Given the description of an element on the screen output the (x, y) to click on. 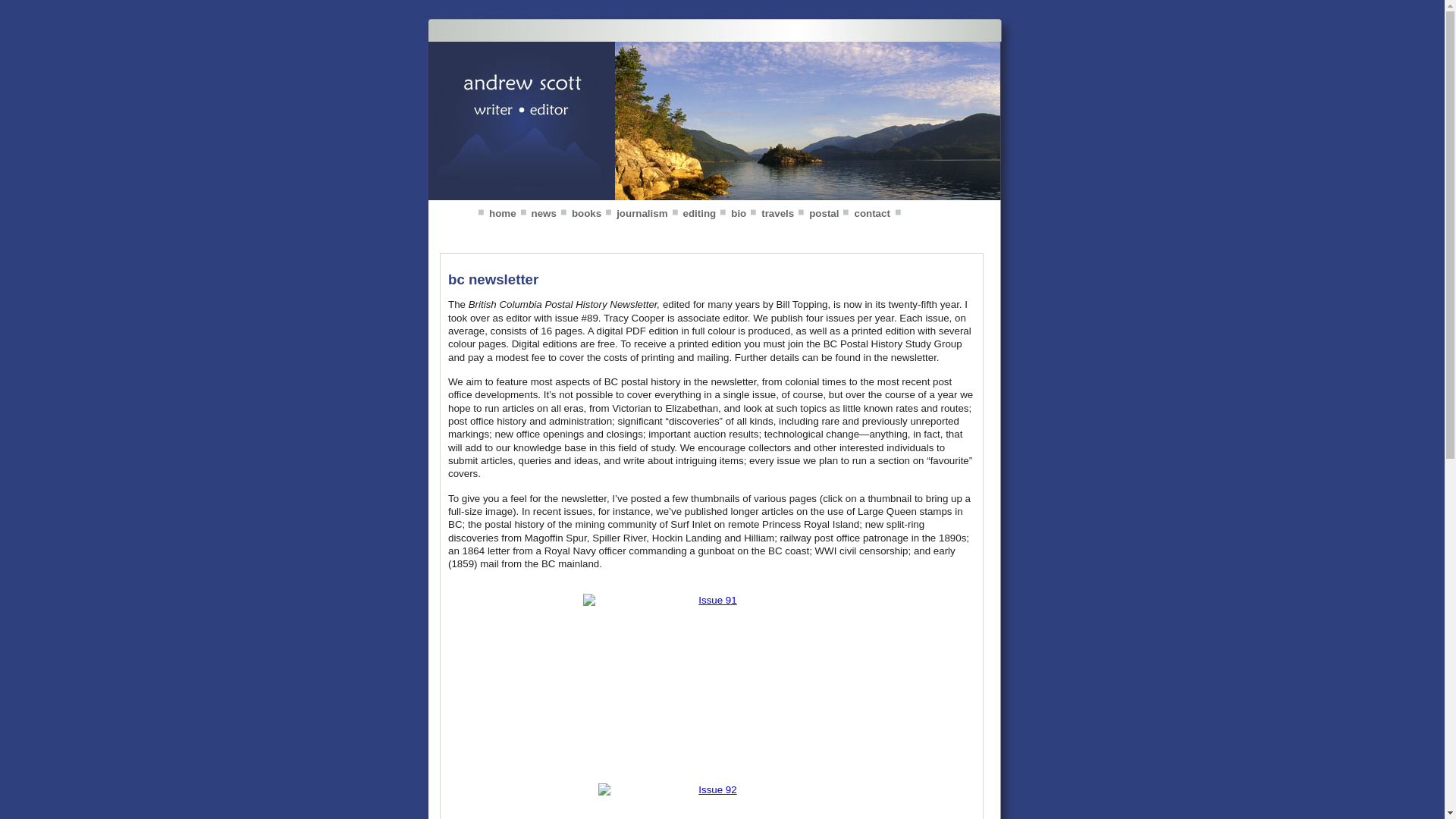
editing Element type: text (692, 213)
home Element type: text (494, 213)
journalism Element type: text (634, 213)
travels Element type: text (769, 213)
books Element type: text (578, 213)
postal Element type: text (815, 213)
bio Element type: text (730, 213)
contact Element type: text (871, 213)
news Element type: text (536, 213)
